Given the description of an element on the screen output the (x, y) to click on. 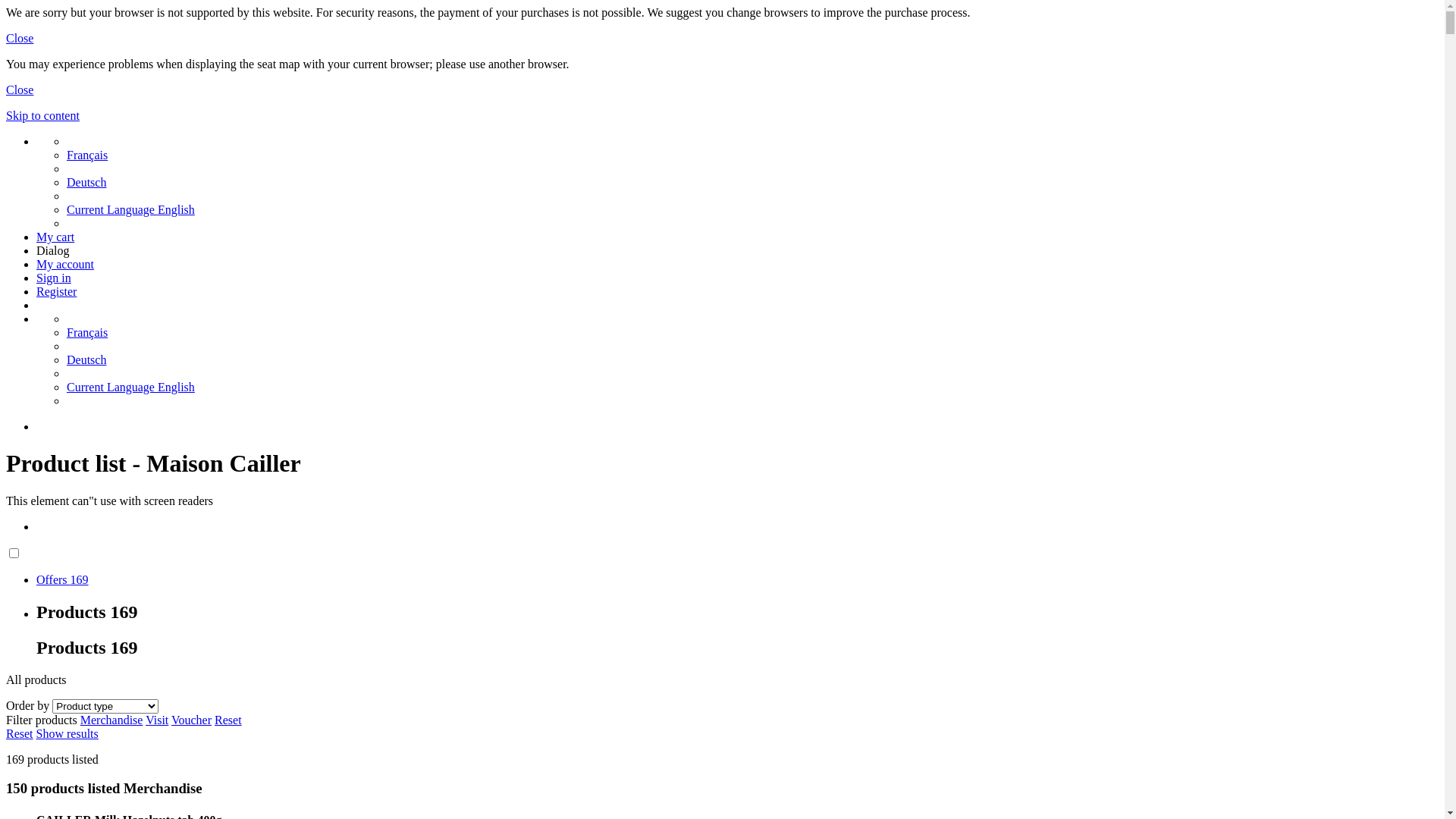
Current Language English Element type: text (130, 386)
My cart Element type: text (55, 236)
Offers 169 Element type: text (62, 579)
Close Element type: text (19, 37)
Skip to content Element type: text (42, 115)
Register Element type: text (56, 291)
Close Element type: text (19, 89)
Reset Element type: text (227, 719)
Voucher Element type: text (191, 719)
Reset Element type: text (19, 733)
Merchandise Element type: text (111, 719)
My account Element type: text (65, 263)
Deutsch Element type: text (86, 181)
Visit Element type: text (156, 719)
Current Language English Element type: text (130, 209)
Show results Element type: text (67, 733)
Deutsch Element type: text (86, 359)
Sign in Element type: text (53, 277)
